Given the description of an element on the screen output the (x, y) to click on. 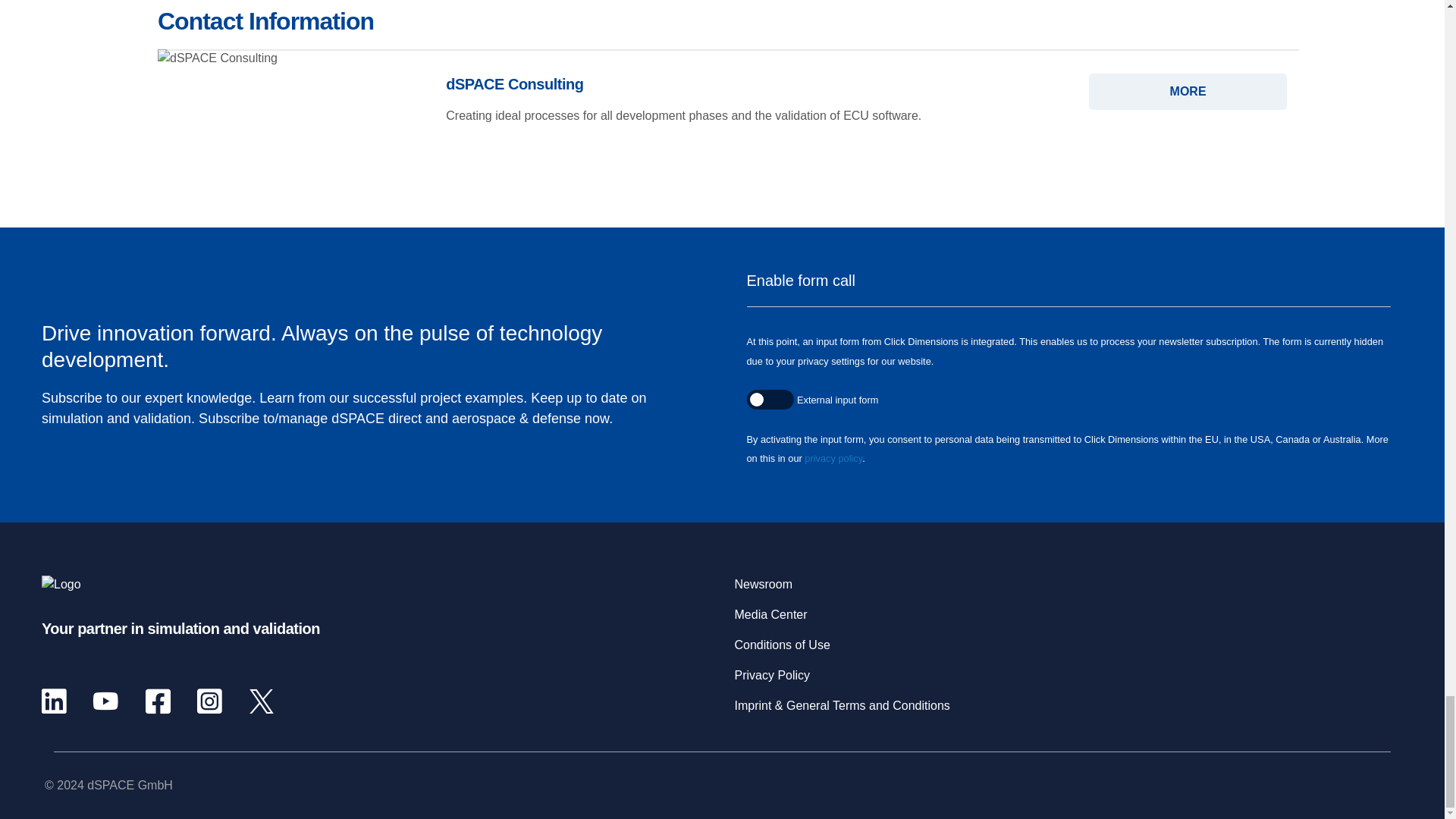
dSPACE Consulting (1188, 91)
privacy policy (833, 458)
MORE (1188, 91)
